Given the description of an element on the screen output the (x, y) to click on. 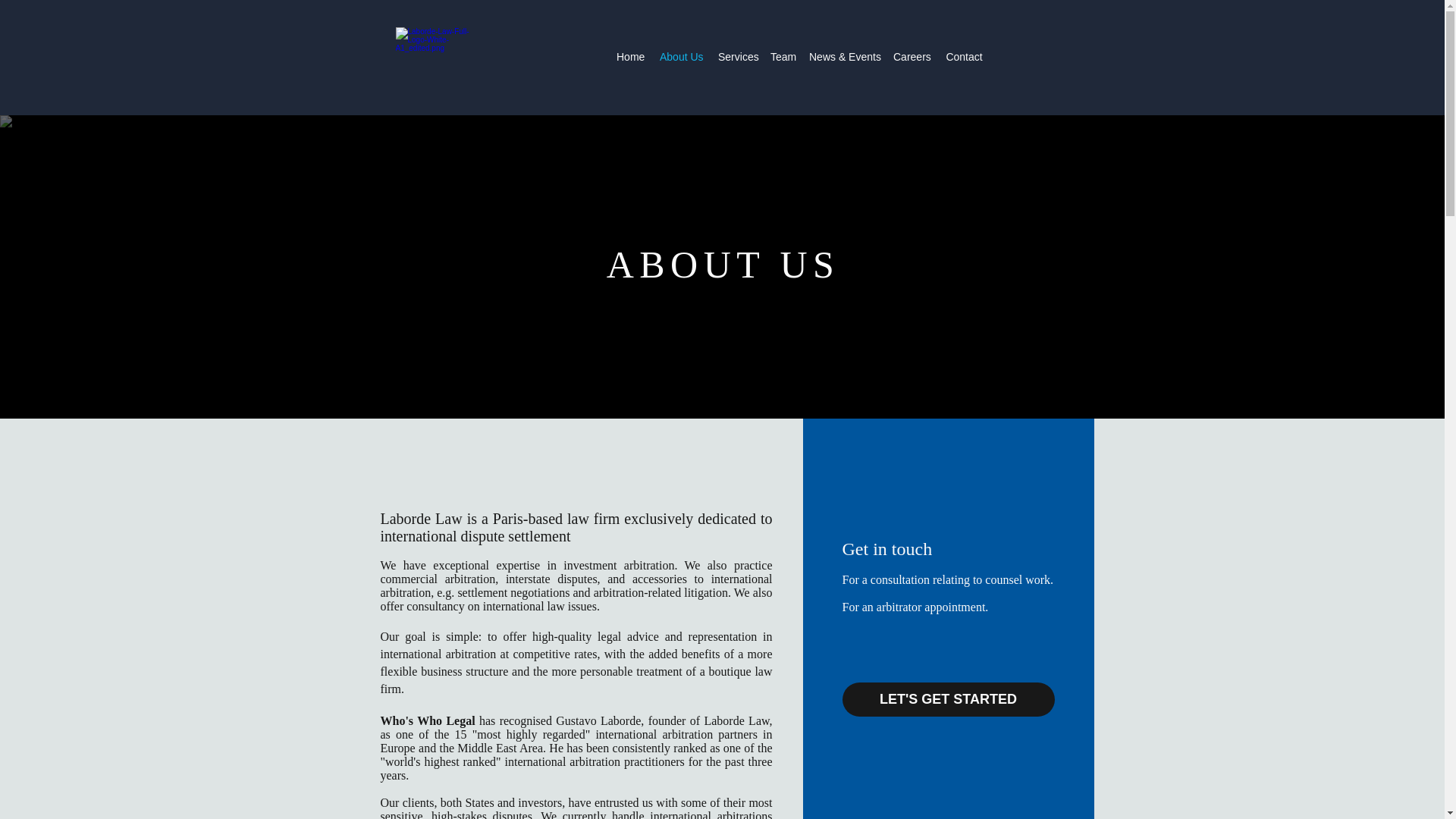
Contact (963, 56)
Careers (911, 56)
Services (736, 56)
About Us (681, 56)
LET'S GET STARTED (947, 699)
FacebookCover.png (436, 56)
Team (782, 56)
Home (630, 56)
